Given the description of an element on the screen output the (x, y) to click on. 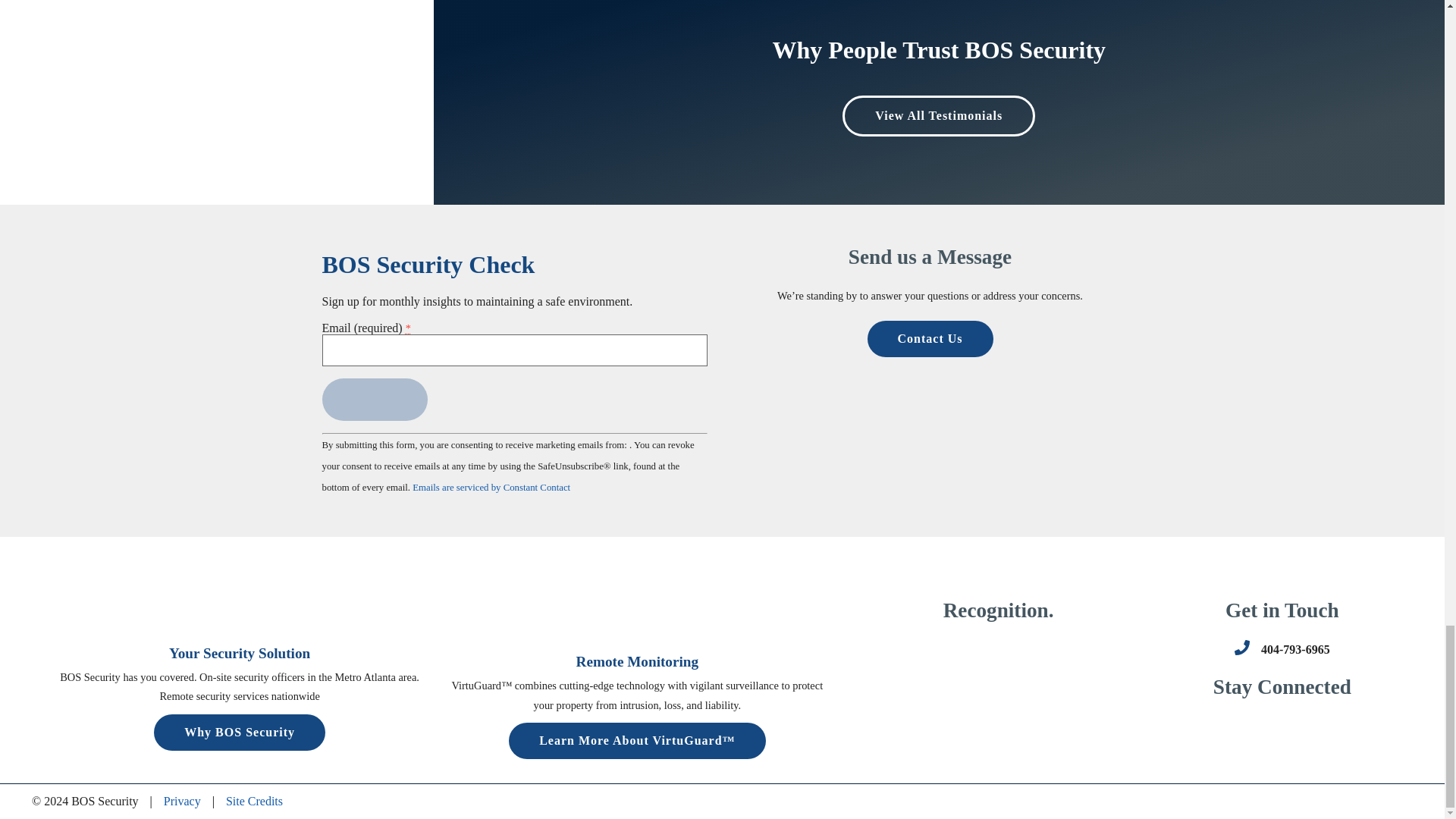
Sign up (373, 399)
